Given the description of an element on the screen output the (x, y) to click on. 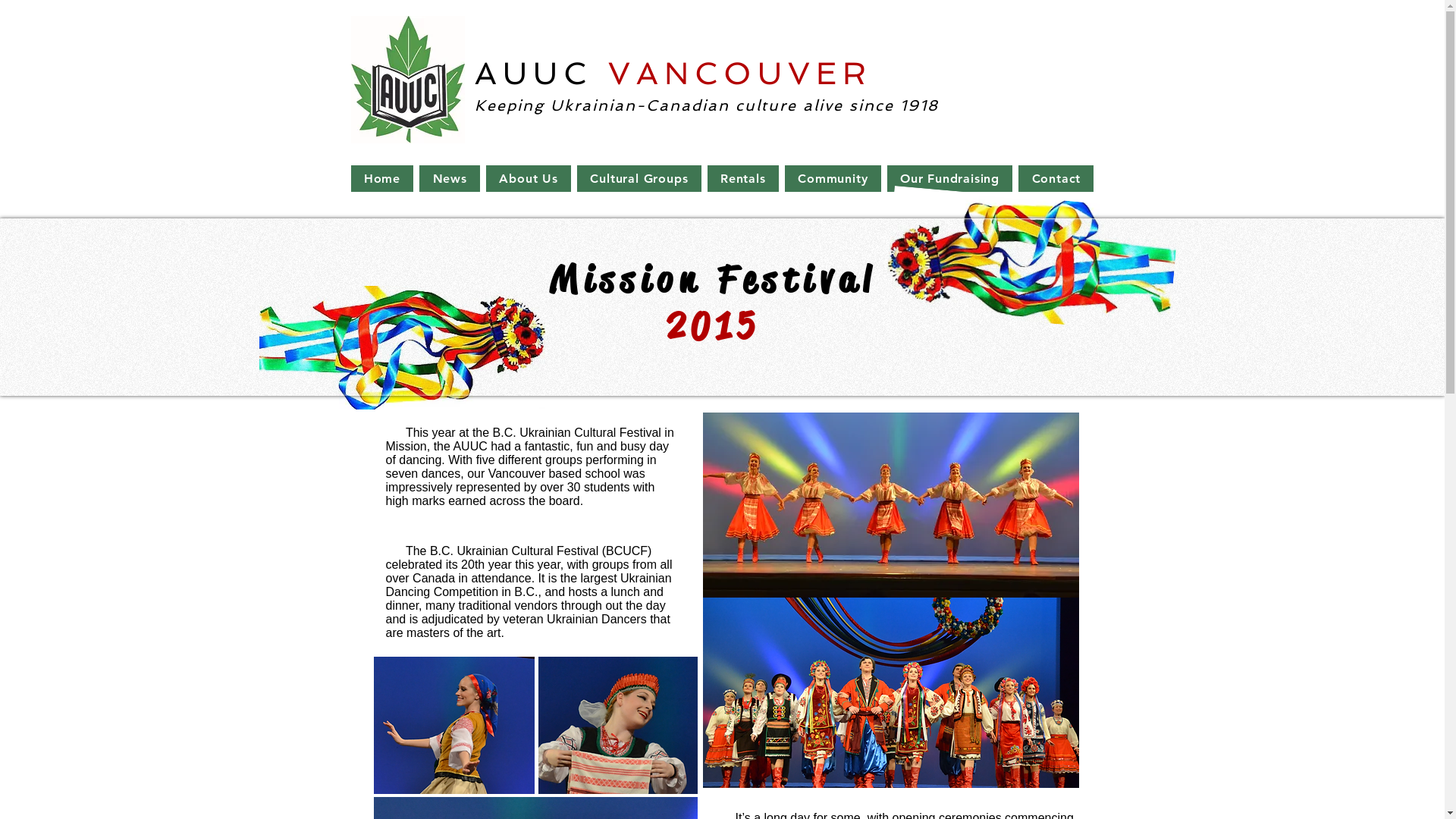
Rentals Element type: text (742, 178)
About Us Element type: text (528, 178)
Contact Element type: text (1055, 178)
Community Element type: text (832, 178)
Cultural Groups Element type: text (639, 178)
News Element type: text (449, 178)
Our Fundraising Element type: text (950, 178)
Home Element type: text (381, 178)
